Given the description of an element on the screen output the (x, y) to click on. 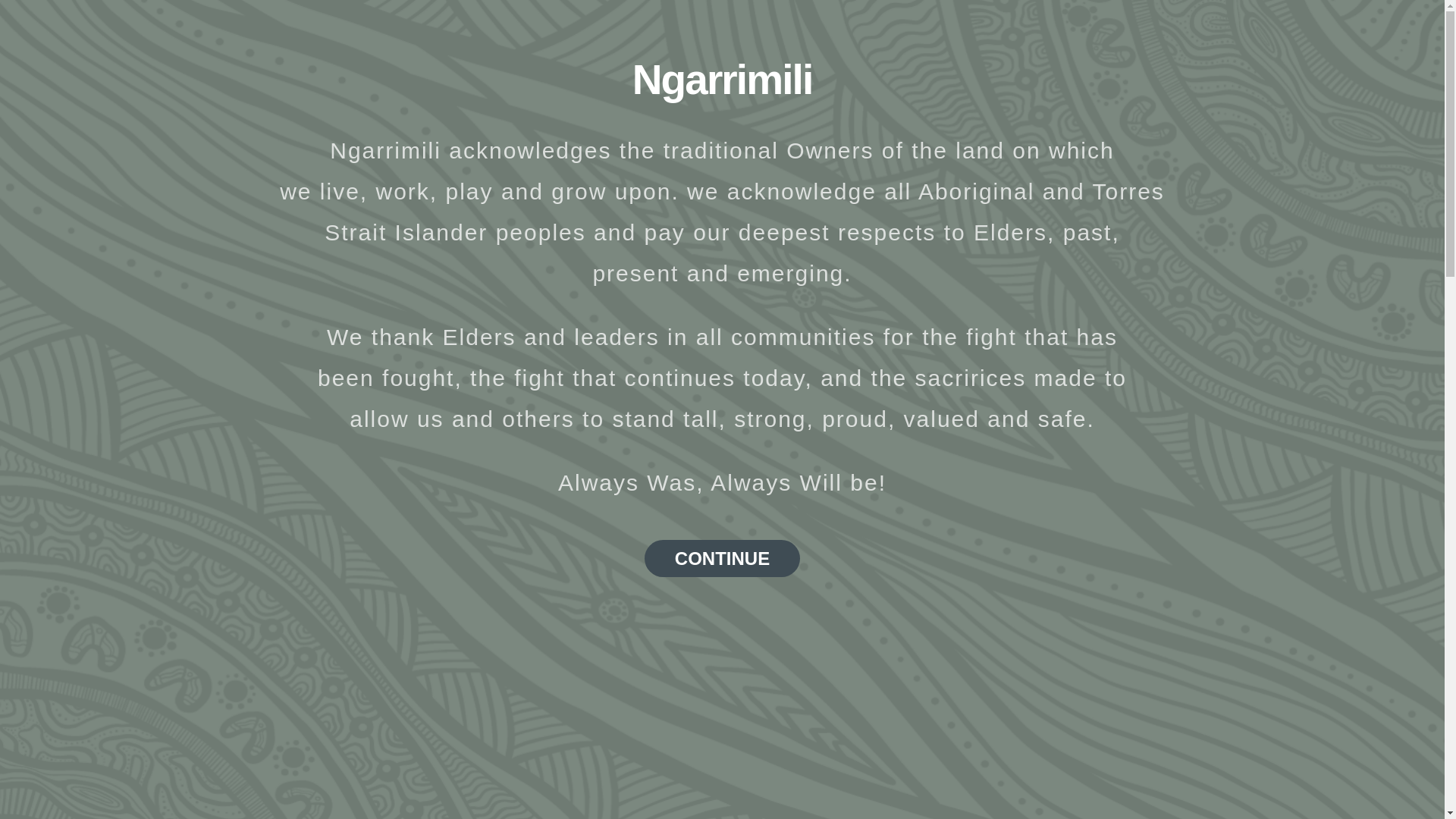
Donate (1157, 36)
CONTINUE (722, 558)
People (947, 36)
Contact (1374, 36)
Blak Business Directory (1265, 36)
About (879, 36)
